Given the description of an element on the screen output the (x, y) to click on. 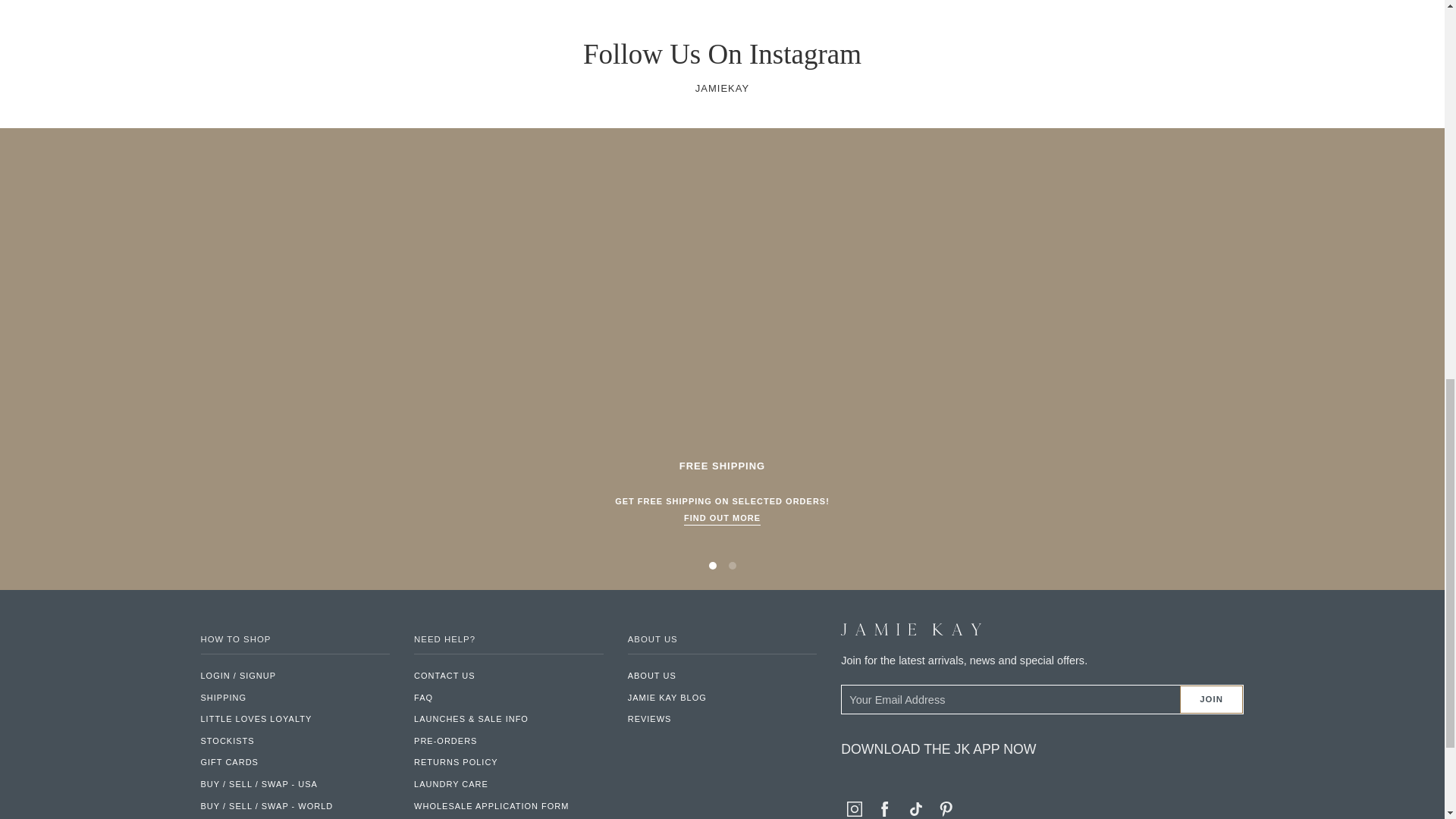
Facebook (884, 808)
Tiktok (915, 808)
Pinterest (946, 808)
Instagram (854, 808)
